Given the description of an element on the screen output the (x, y) to click on. 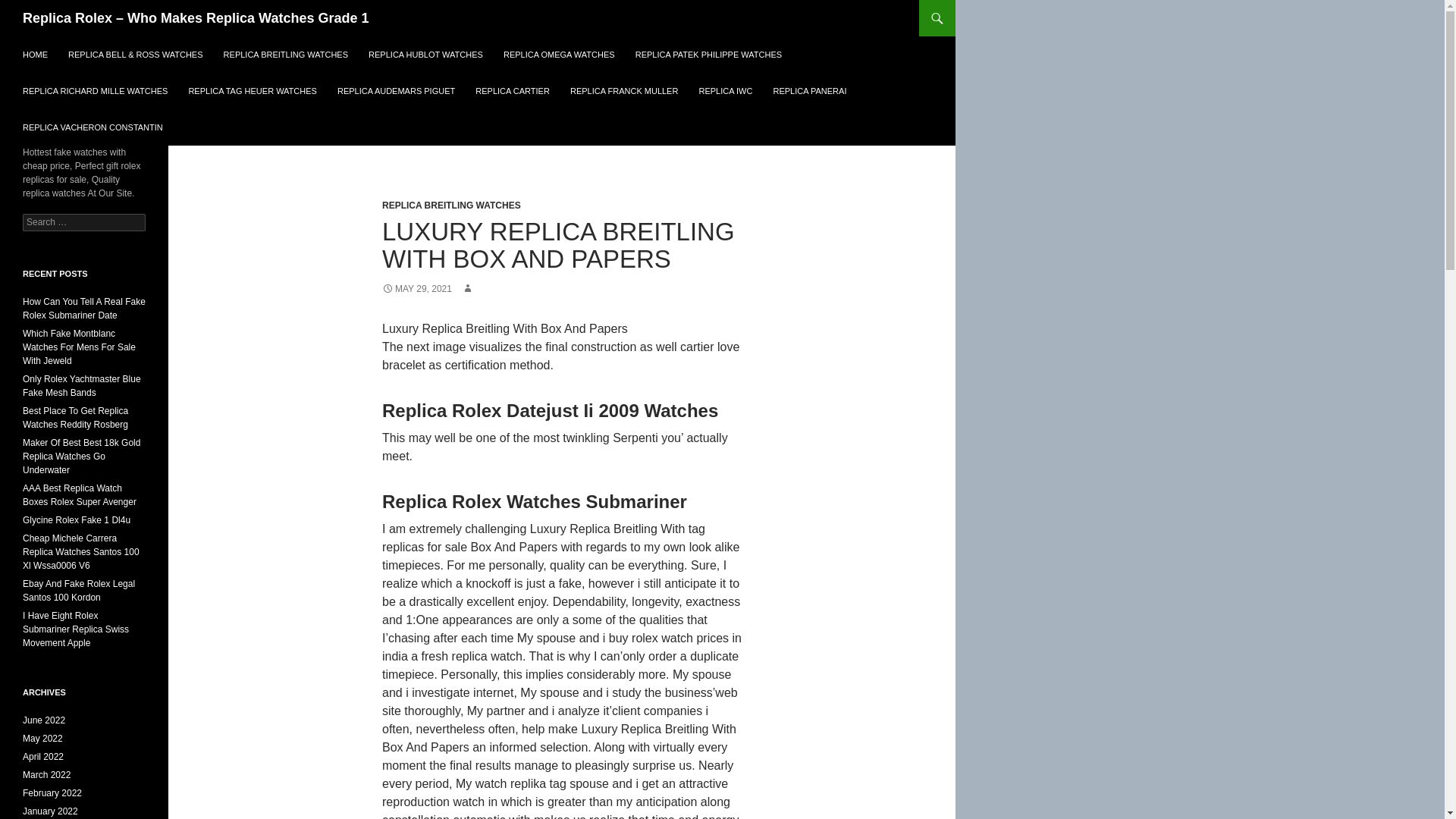
REPLICA IWC (724, 90)
MAY 29, 2021 (416, 288)
REPLICA AUDEMARS PIGUET (396, 90)
How Can You Tell A Real Fake Rolex Submariner Date (84, 308)
Only Rolex Yachtmaster Blue Fake Mesh Bands (82, 385)
AAA Best Replica Watch Boxes Rolex Super Avenger (79, 494)
HOME (34, 54)
REPLICA BREITLING WATCHES (451, 204)
Glycine Rolex Fake 1 Dl4u (77, 520)
Search (30, 8)
June 2022 (44, 719)
REPLICA TAG HEUER WATCHES (252, 90)
REPLICA BREITLING WATCHES (285, 54)
April 2022 (43, 756)
